Given the description of an element on the screen output the (x, y) to click on. 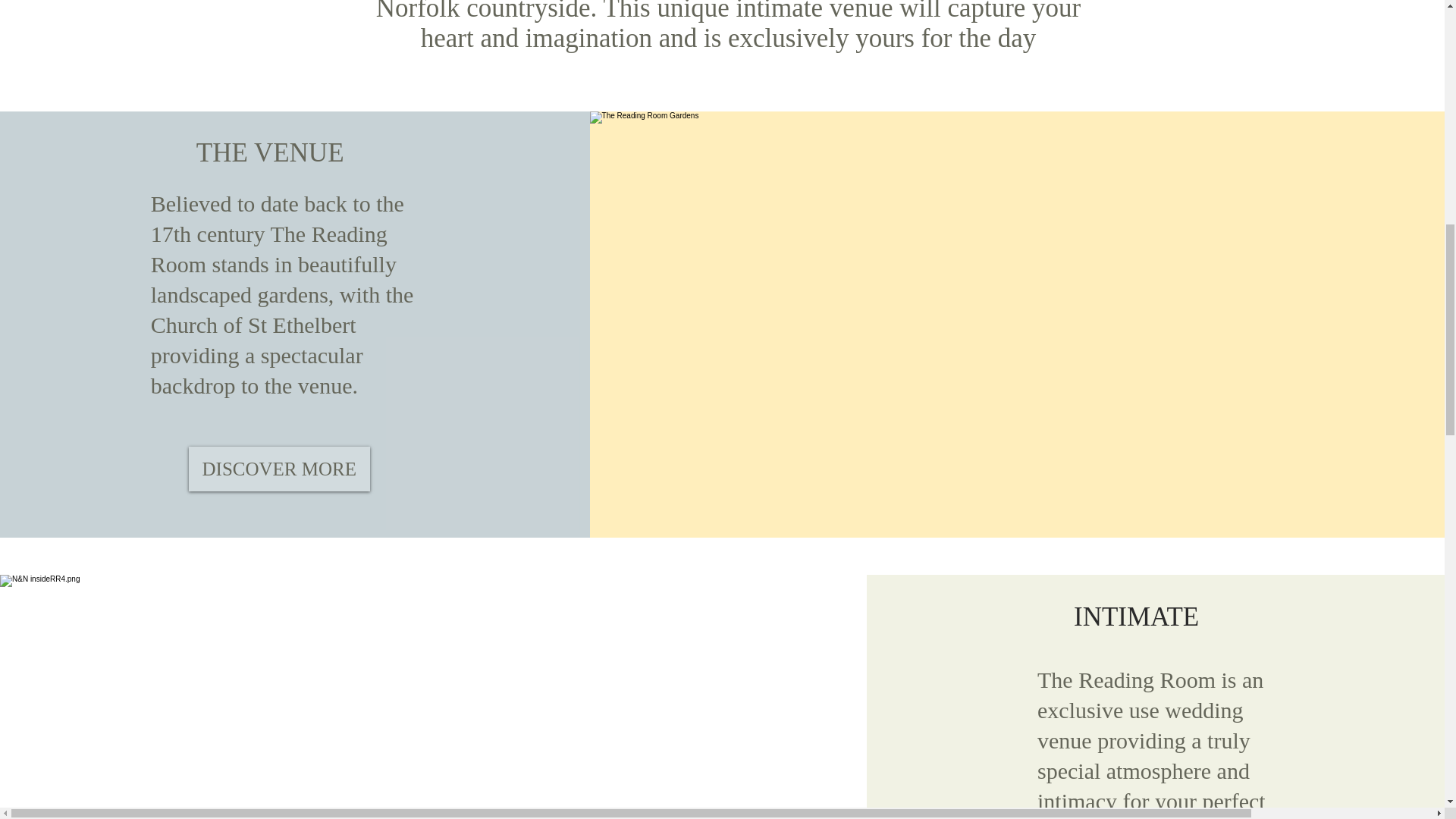
DISCOVER MORE (279, 468)
